Given the description of an element on the screen output the (x, y) to click on. 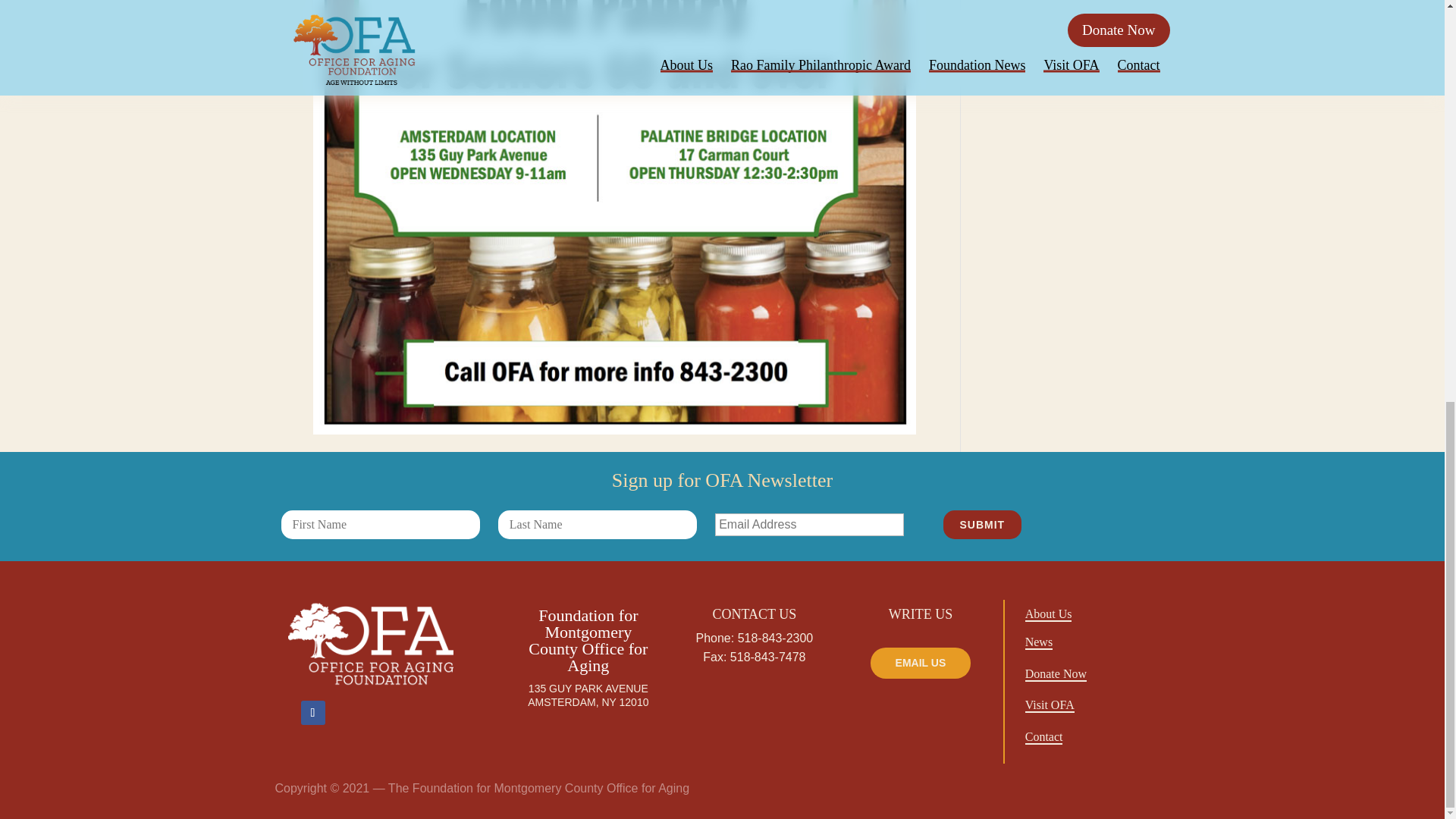
About Us (1048, 614)
ofa-logo-white-2x-a (376, 643)
Follow on Facebook (311, 712)
Submit (982, 524)
News (1038, 642)
Submit (982, 524)
EMAIL US (919, 663)
